Given the description of an element on the screen output the (x, y) to click on. 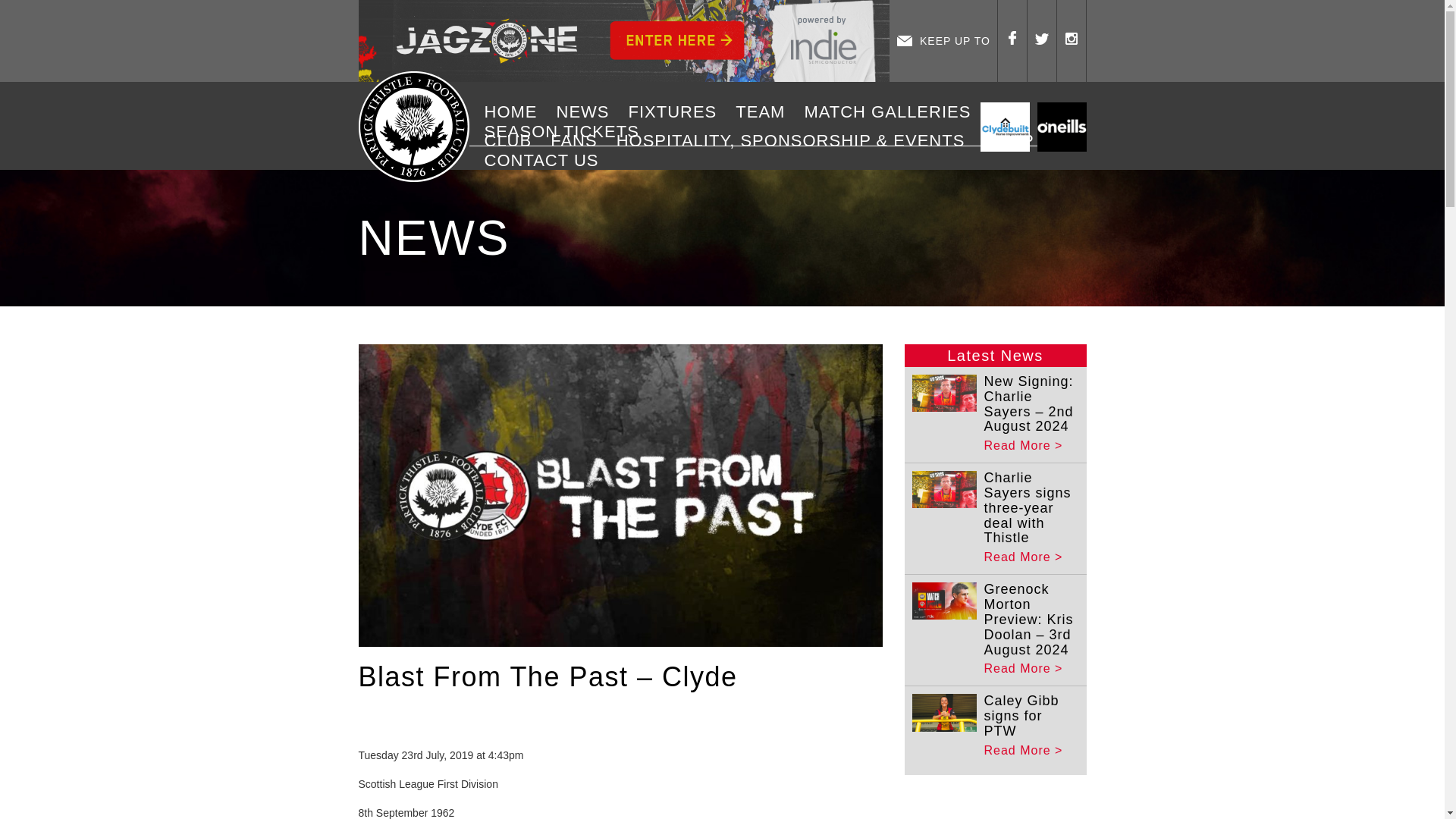
SEASON TICKETS (566, 131)
KEEP UP TO DATE (943, 40)
FIXTURES (678, 112)
NEWS (587, 112)
SHOP (1013, 140)
TEAM (765, 112)
CONTACT US (547, 160)
Charlie Sayers signs three-year deal with Thistle (1027, 507)
FANS (579, 140)
MATCH GALLERIES (892, 112)
HOME (516, 112)
CLUB (513, 140)
Enter the JAGZONE (623, 40)
